Given the description of an element on the screen output the (x, y) to click on. 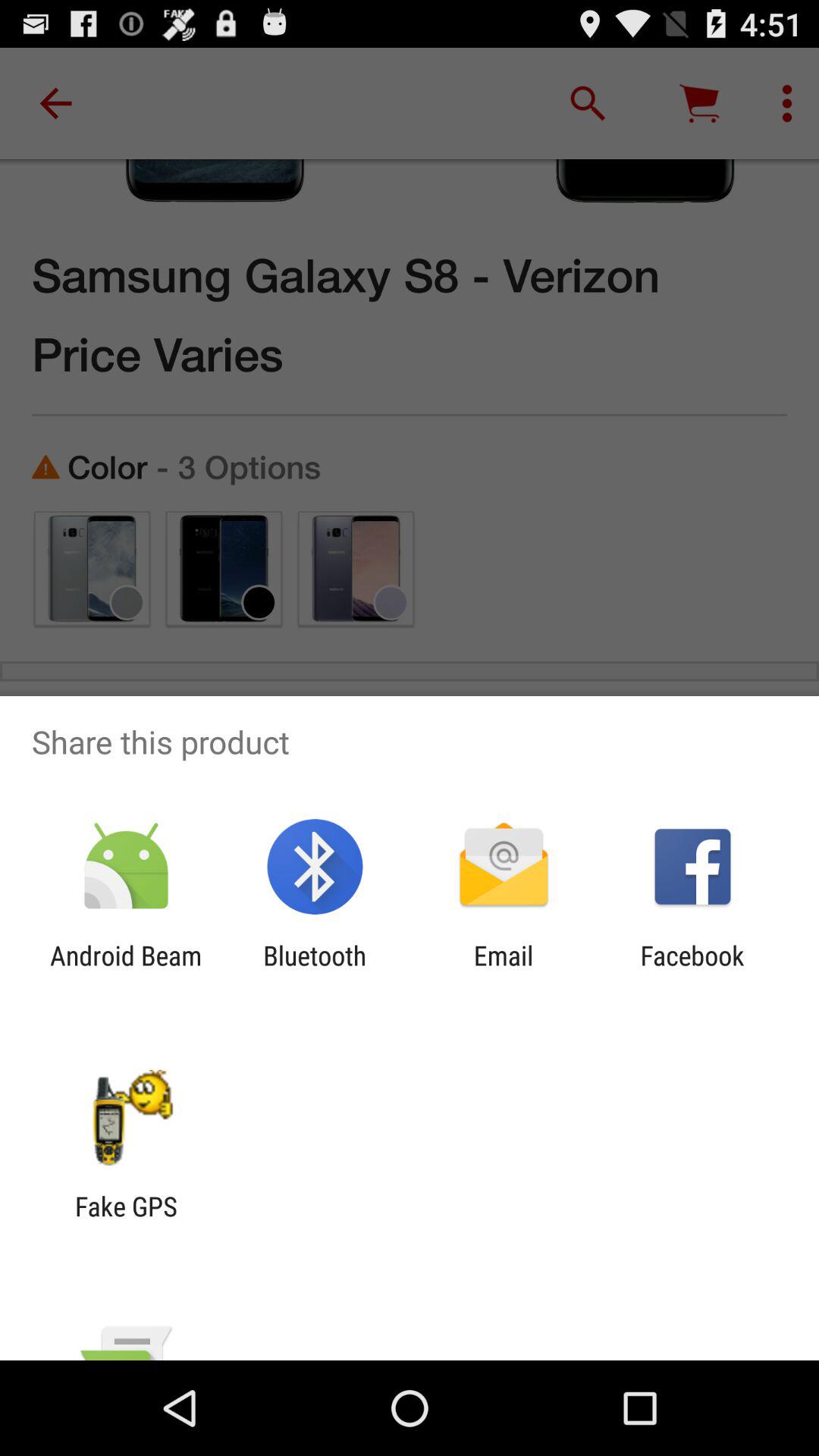
select bluetooth item (314, 971)
